Given the description of an element on the screen output the (x, y) to click on. 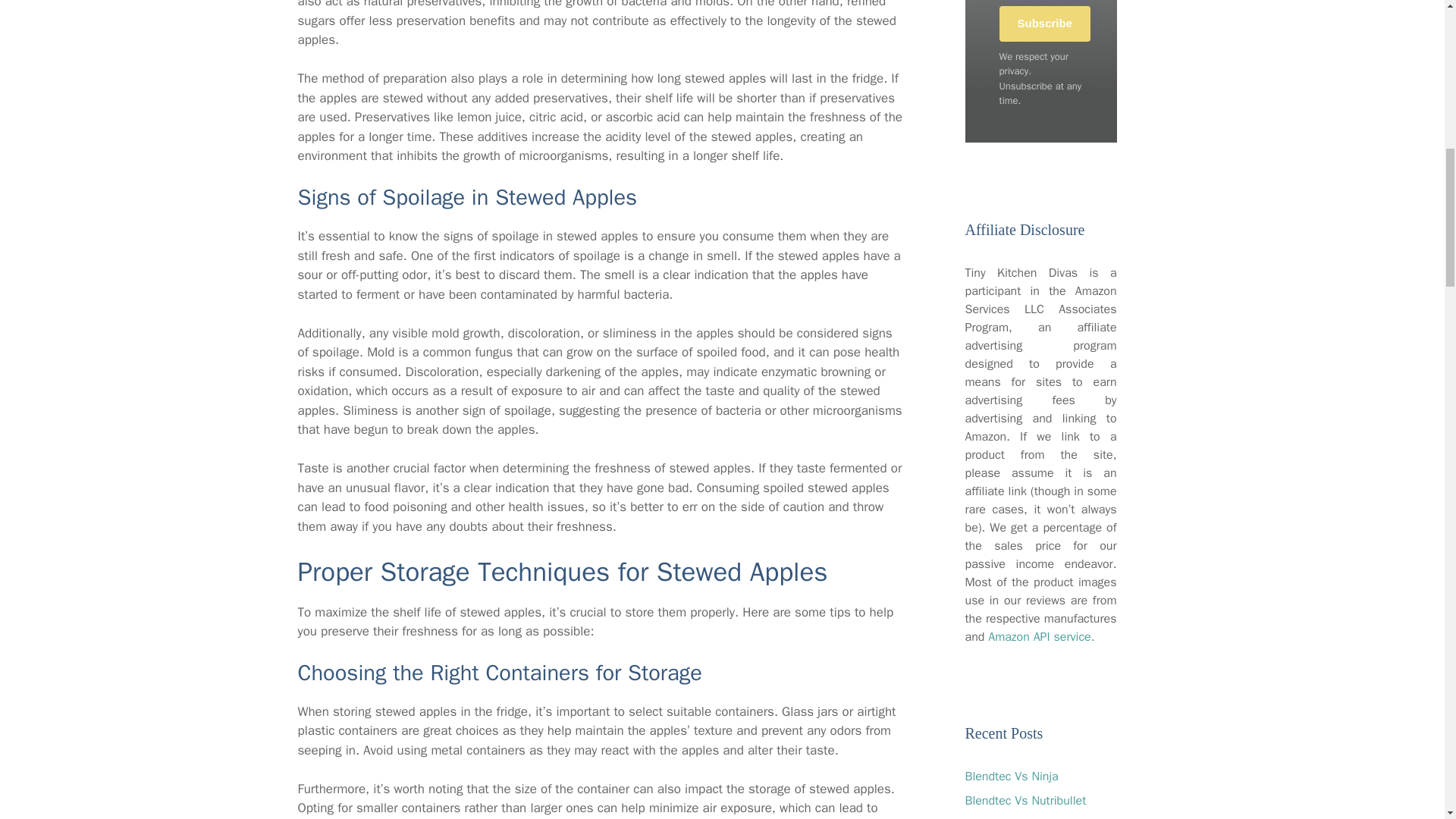
Scroll back to top (1406, 720)
Amazon API service. (1041, 636)
Subscribe (1044, 23)
Blendtec Vs Ninja (1010, 776)
Blendtec Vs Nutribullet (1024, 800)
